Given the description of an element on the screen output the (x, y) to click on. 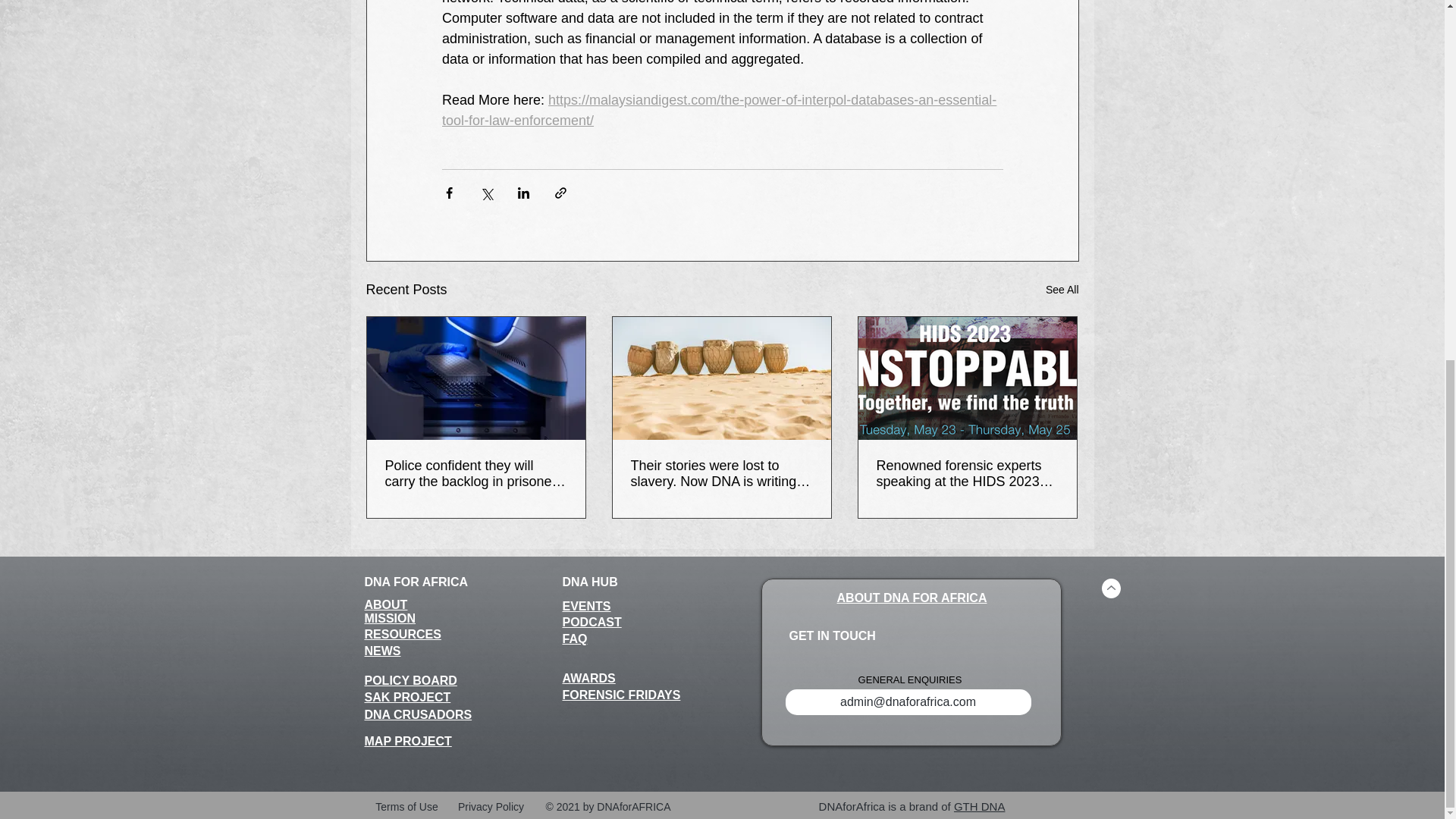
See All (1061, 290)
